Given the description of an element on the screen output the (x, y) to click on. 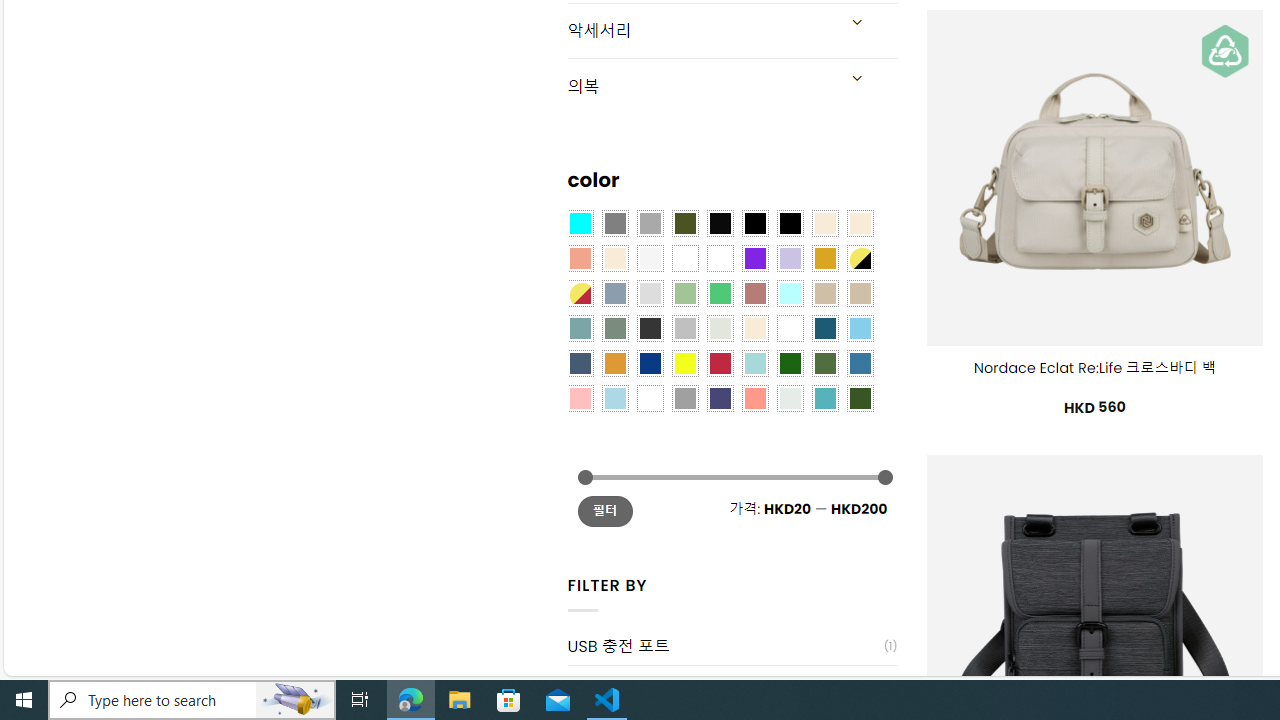
Kelp (719, 257)
Dull Nickle (789, 398)
Coral (579, 257)
